Given the description of an element on the screen output the (x, y) to click on. 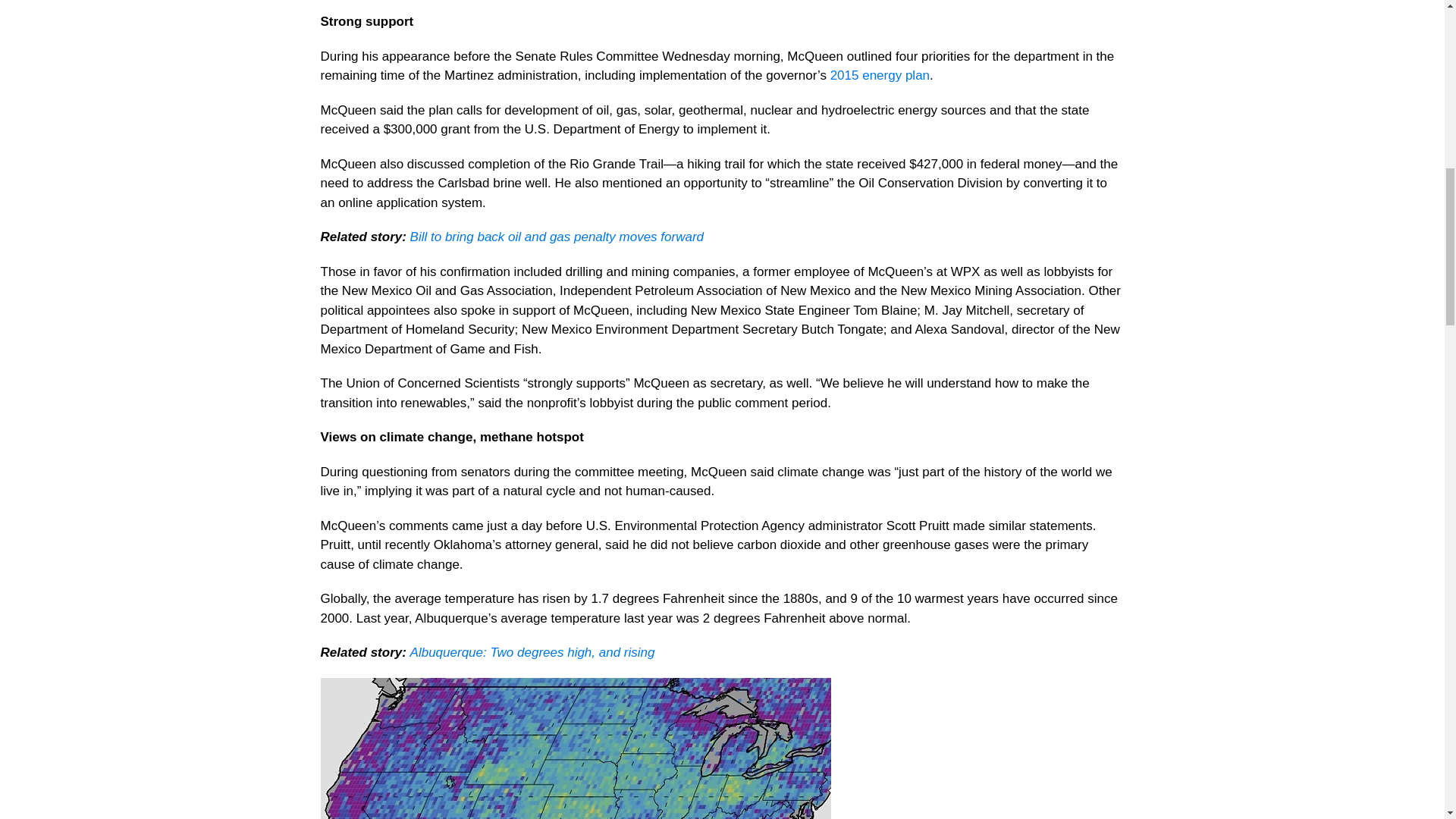
Bill to bring back oil and gas penalty moves forward (554, 237)
2015 energy plan (879, 74)
Albuquerque: Two degrees high, and rising (532, 652)
